Given the description of an element on the screen output the (x, y) to click on. 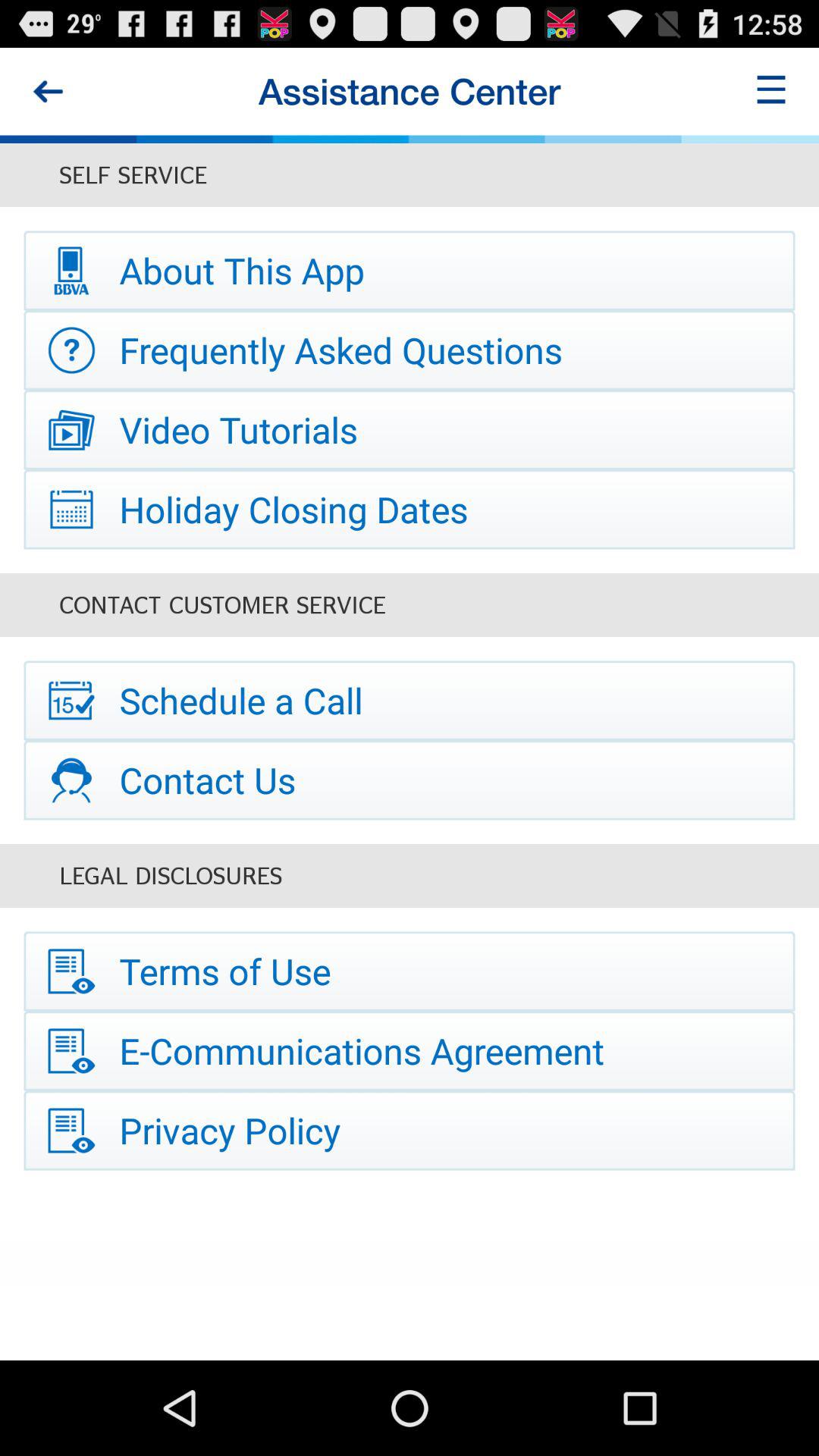
open item below the about this app (409, 350)
